Given the description of an element on the screen output the (x, y) to click on. 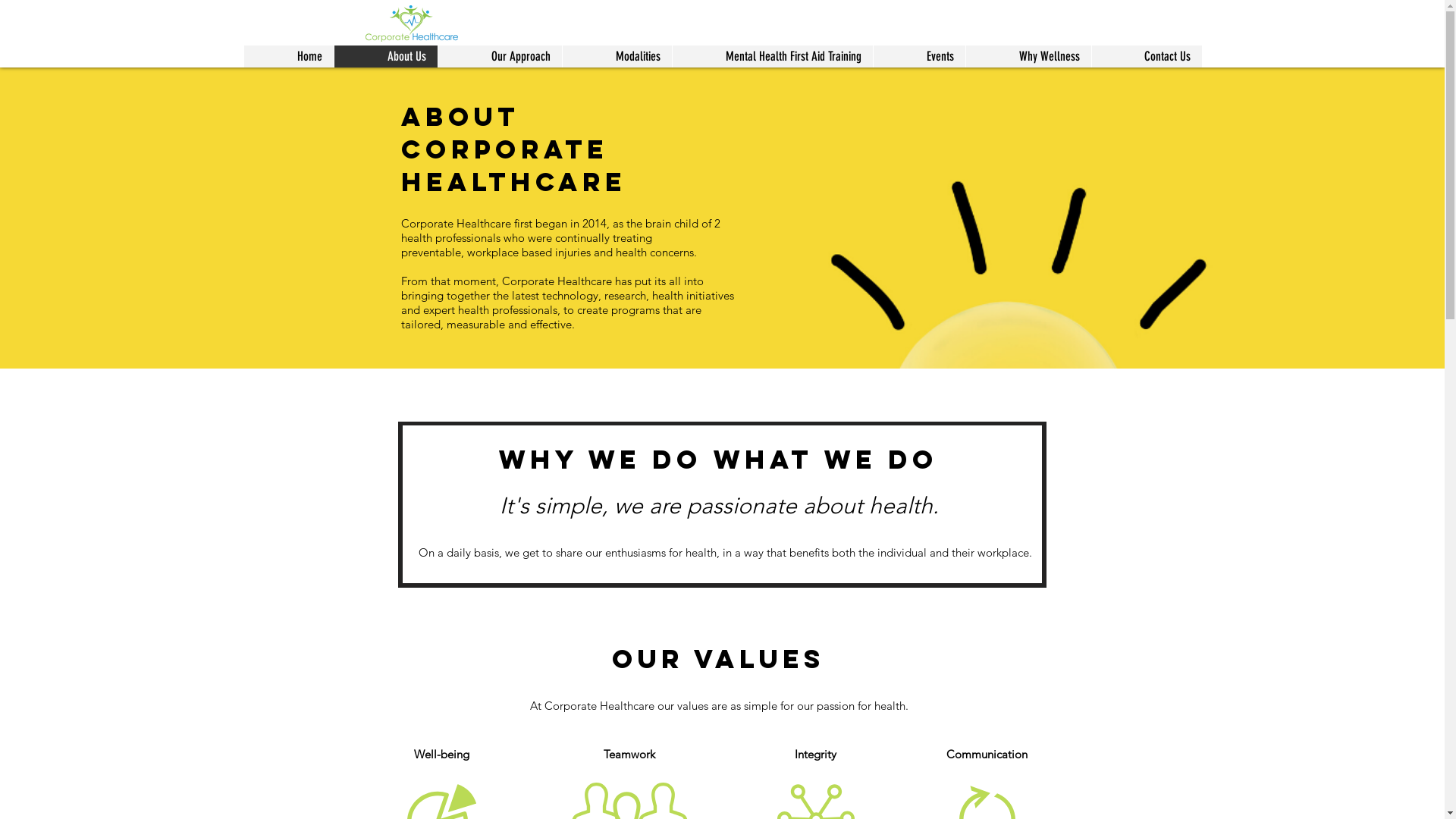
Home Element type: text (288, 56)
Modalities Element type: text (616, 56)
Mental Health First Aid Training Element type: text (771, 56)
Our Approach Element type: text (498, 56)
Events Element type: text (918, 56)
Contact Us Element type: text (1145, 56)
About Us Element type: text (385, 56)
Why Wellness Element type: text (1027, 56)
